Given the description of an element on the screen output the (x, y) to click on. 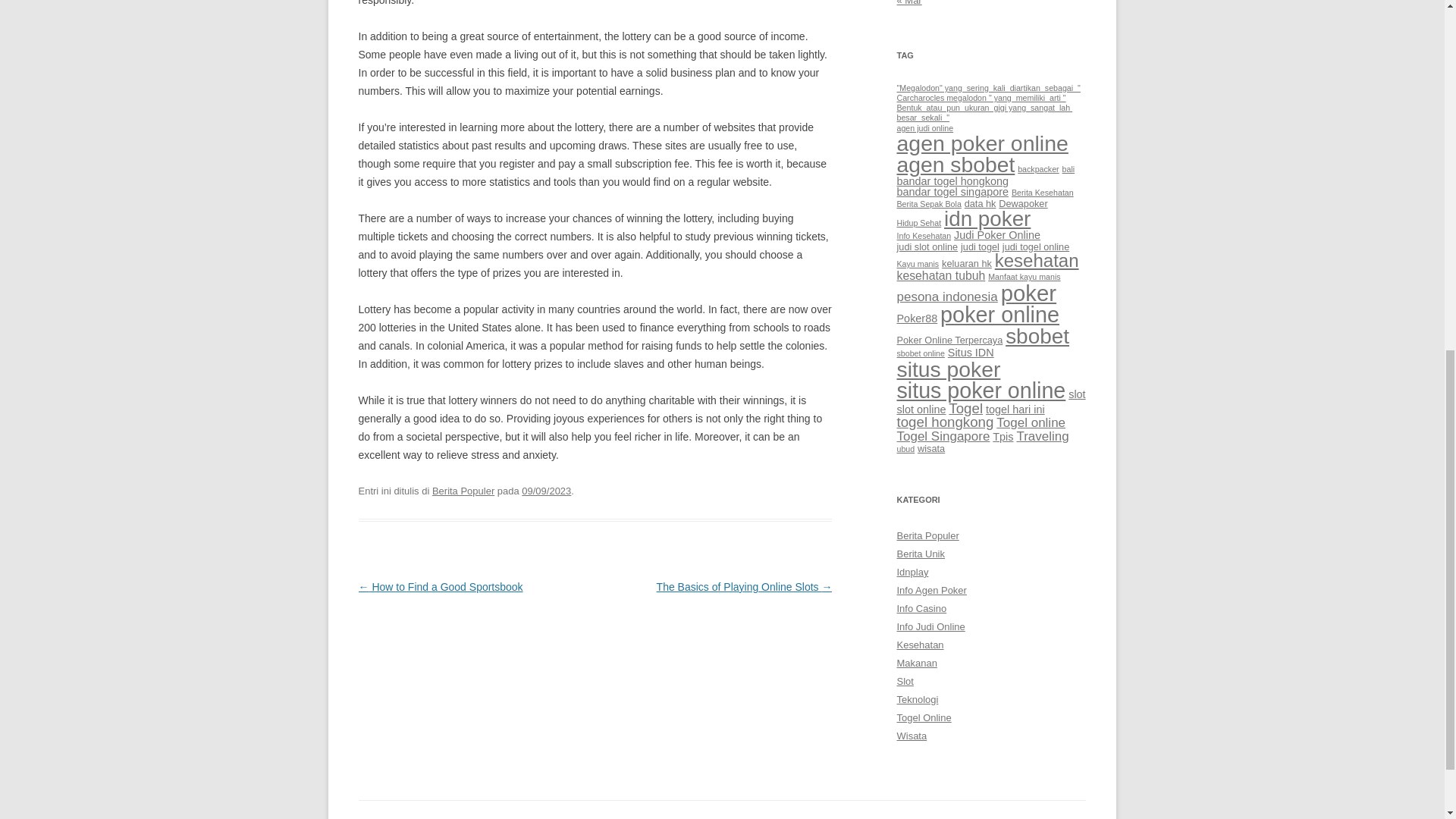
agen judi online (924, 127)
Judi Poker Online (997, 234)
Dewapoker (1022, 203)
Berita Kesehatan (1042, 192)
Hidup Sehat (918, 222)
bandar togel singapore (952, 191)
Berita Populer (463, 490)
backpacker (1038, 168)
idn poker (986, 218)
agen poker online (981, 143)
data hk (979, 203)
judi slot online (927, 246)
5:49 am (545, 490)
bandar togel hongkong (952, 181)
